Given the description of an element on the screen output the (x, y) to click on. 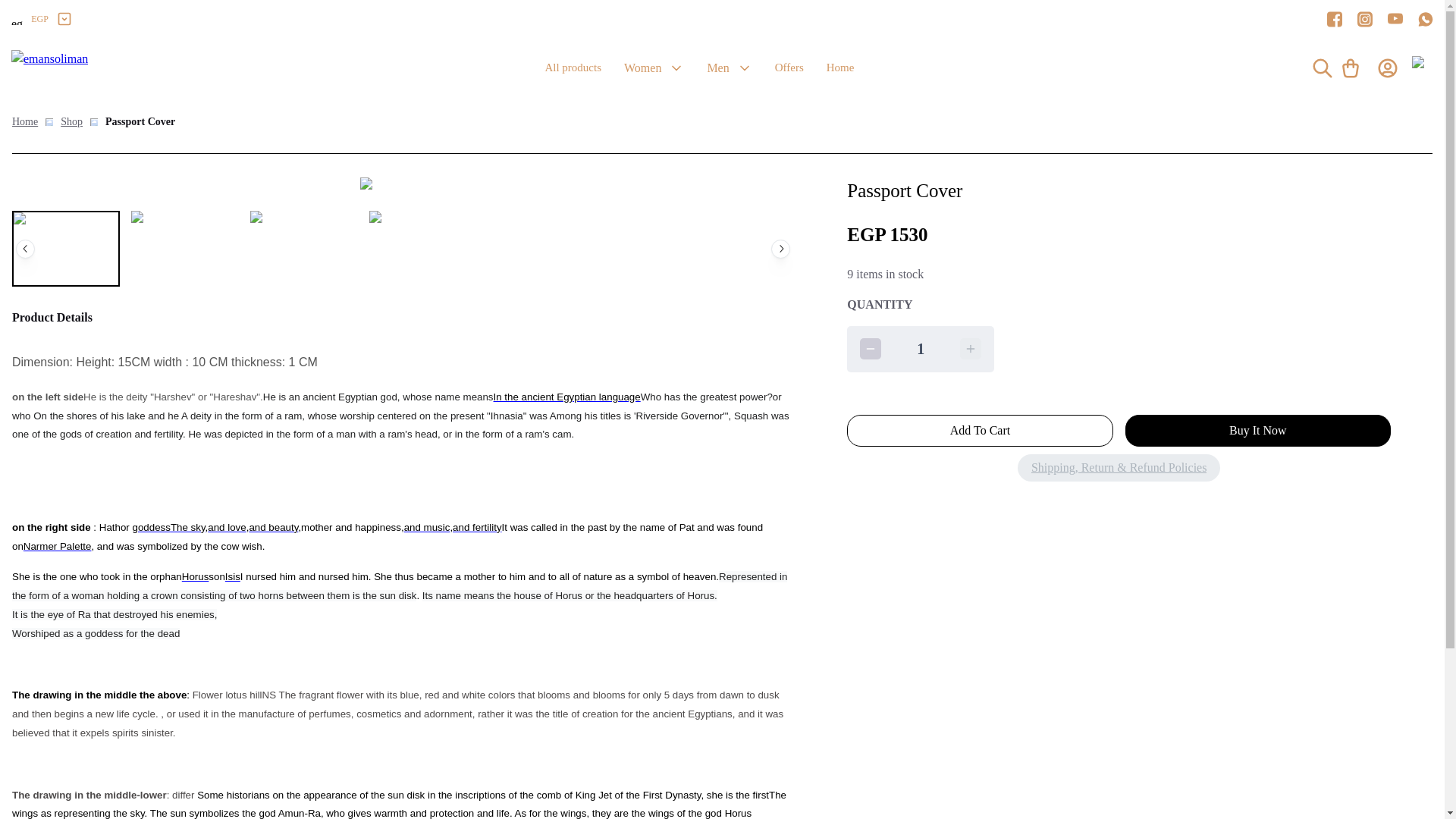
Home (24, 121)
In the ancient Egyptian language (566, 396)
Shop (71, 121)
Buy It Now (1257, 430)
cart (1350, 68)
and love (227, 526)
The sky (187, 526)
and fertility (476, 526)
and music (426, 526)
and beauty (273, 526)
eg (17, 19)
goddess (151, 526)
account (1387, 68)
Narmer Palette (57, 545)
Isis (232, 576)
